Given the description of an element on the screen output the (x, y) to click on. 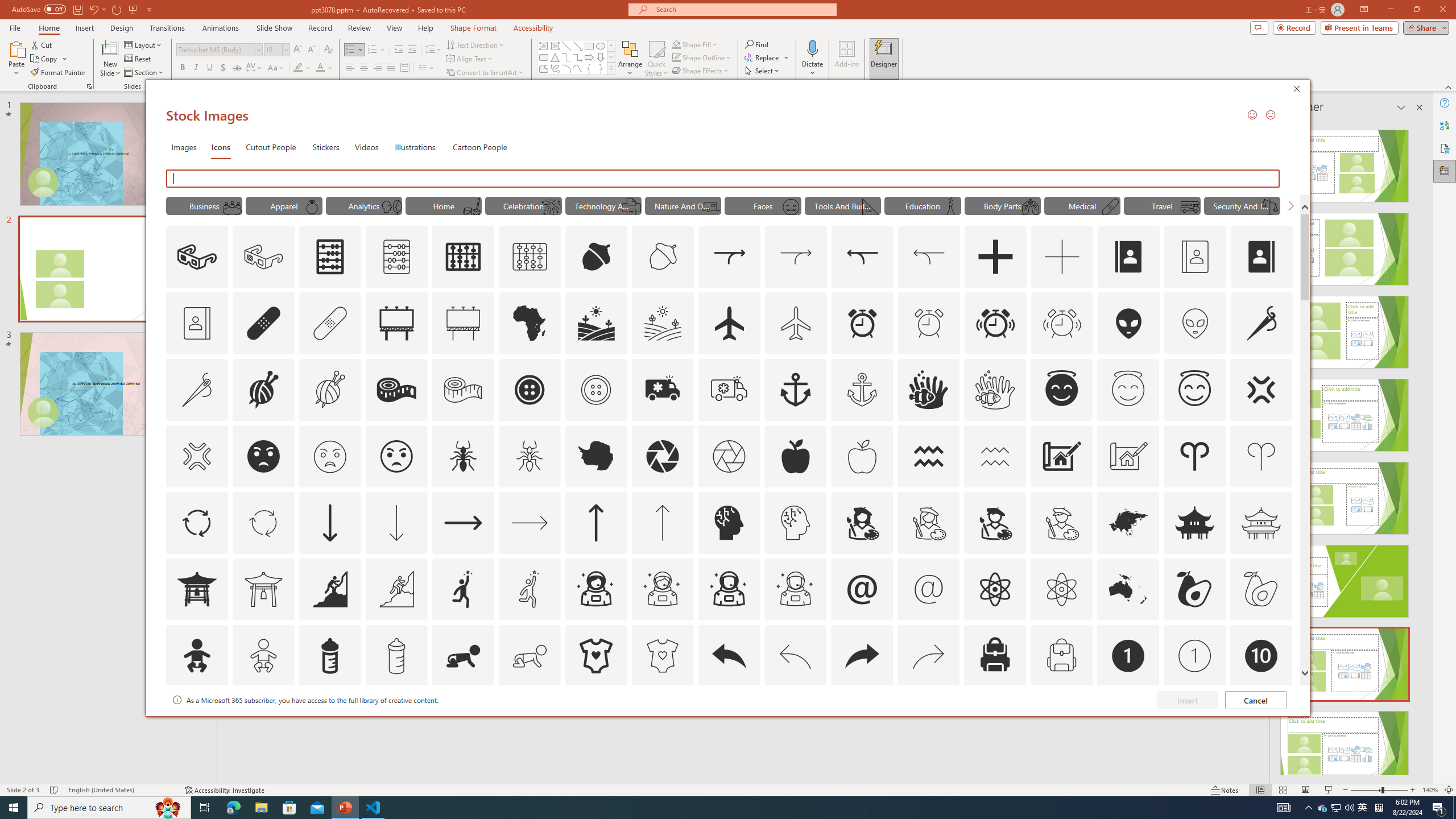
AutomationID: Icons_Badge10_M (196, 721)
Change Case (276, 67)
AutomationID: Icons_Baby_M (263, 655)
AutomationID: Icons_ArrowDown_M (395, 522)
AutomationID: Icons_Acquisition_RTL (863, 256)
"Body Parts" Icons. (1002, 205)
AutomationID: Icons_Anchor_M (861, 389)
